Given the description of an element on the screen output the (x, y) to click on. 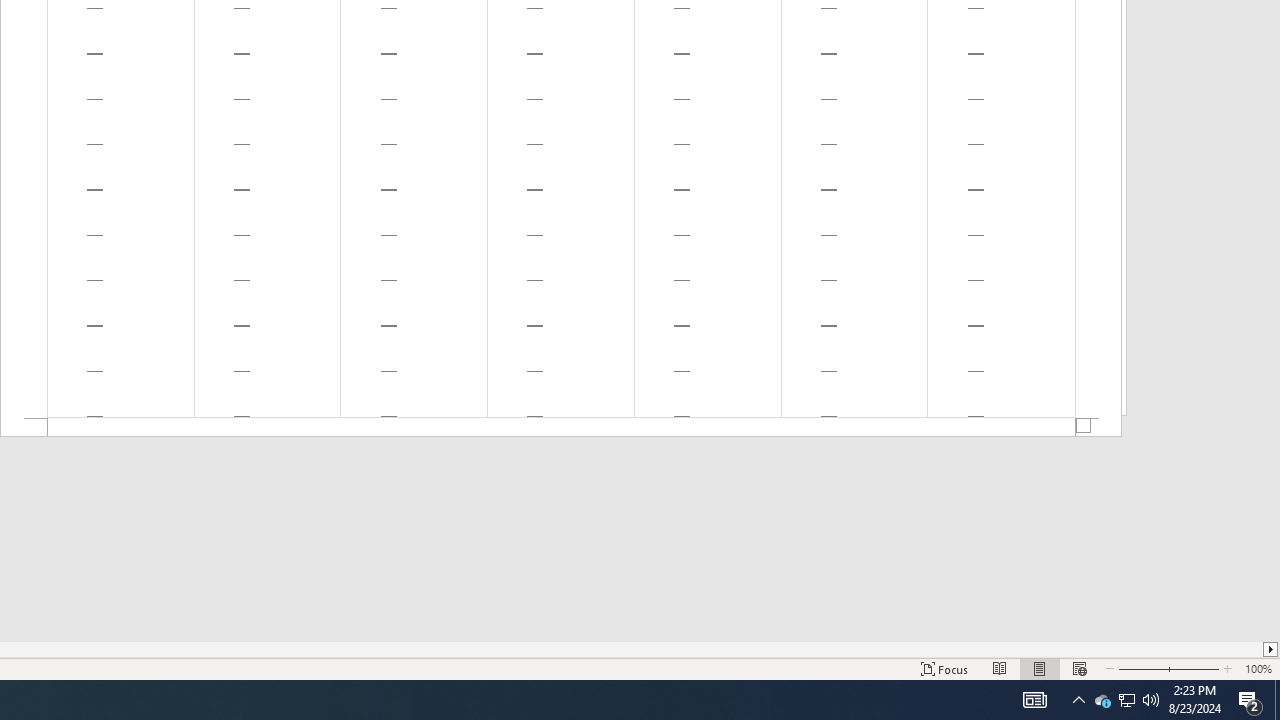
Footer -Section 1- (561, 427)
Web Layout (1079, 668)
Focus  (944, 668)
Read Mode (1000, 668)
Zoom Out (1142, 668)
Column right (1271, 649)
Print Layout (1039, 668)
Zoom In (1195, 668)
